Given the description of an element on the screen output the (x, y) to click on. 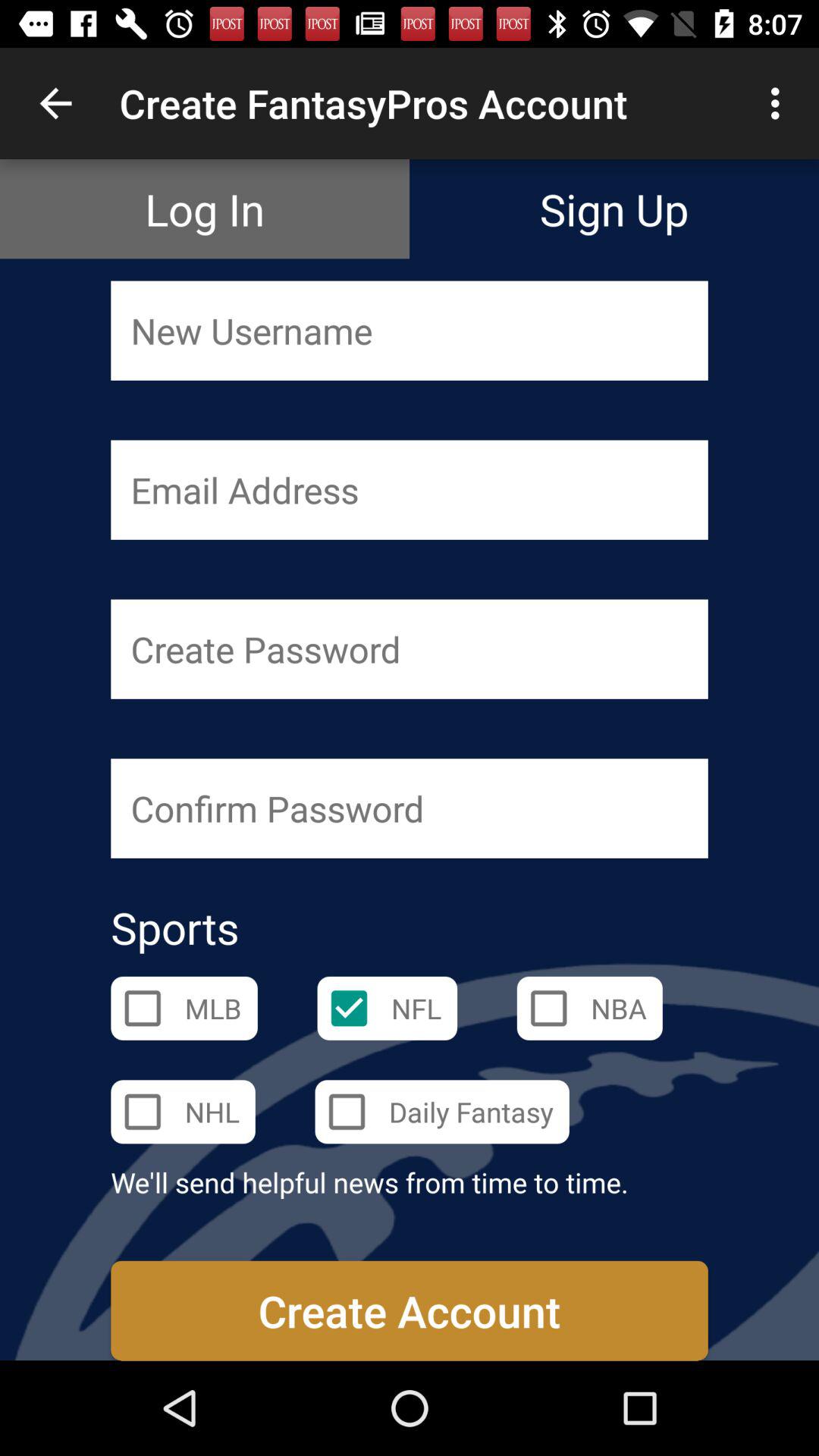
press icon above the log in (55, 103)
